Given the description of an element on the screen output the (x, y) to click on. 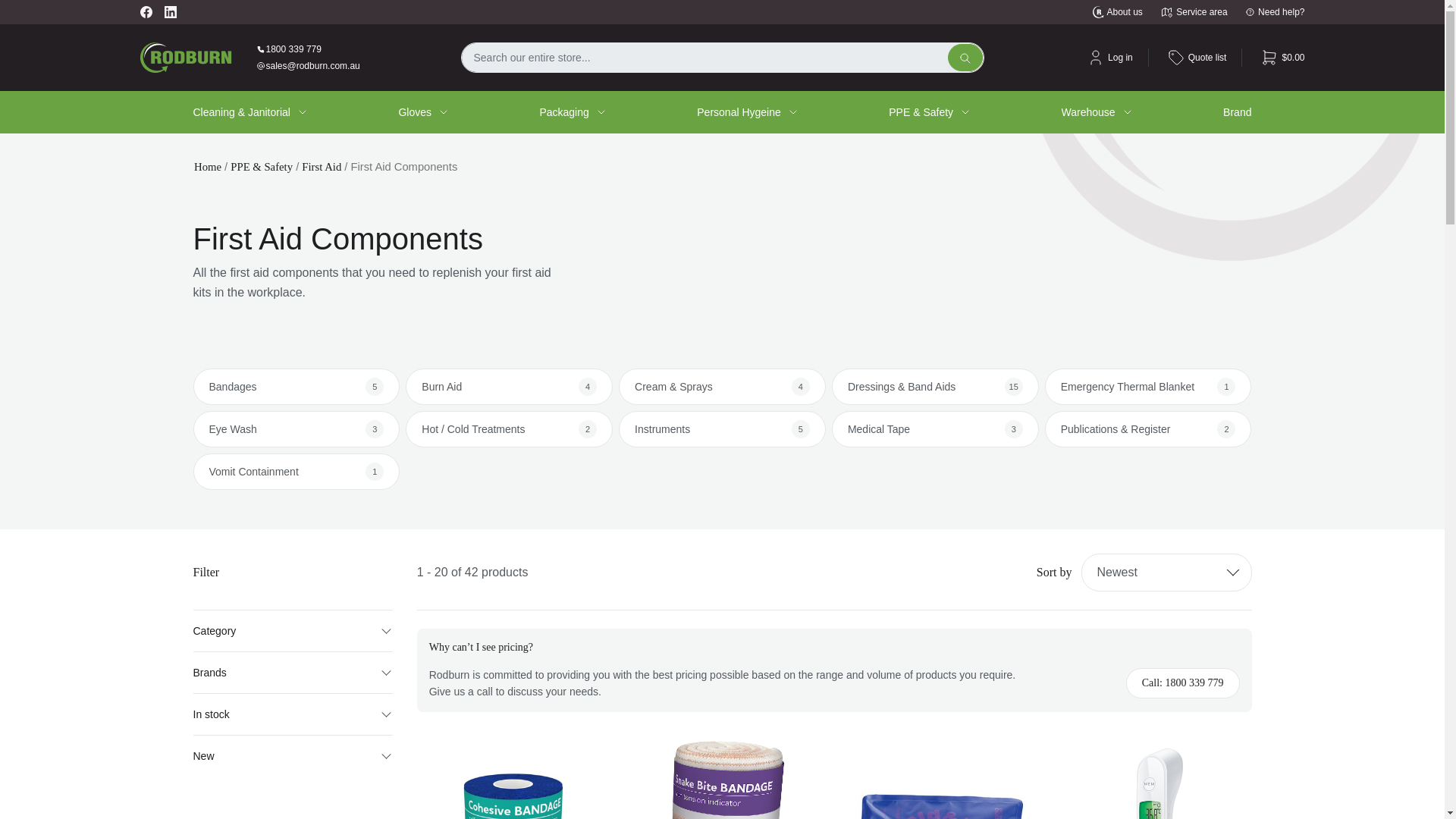
Service area (1193, 11)
Warehouse (1088, 111)
Gloves (413, 111)
1800 339 779 (307, 49)
Brand (1236, 111)
Packaging (563, 111)
Personal Hygeine (738, 111)
About us (1116, 11)
Log in (1107, 57)
Quote list (1195, 57)
